Given the description of an element on the screen output the (x, y) to click on. 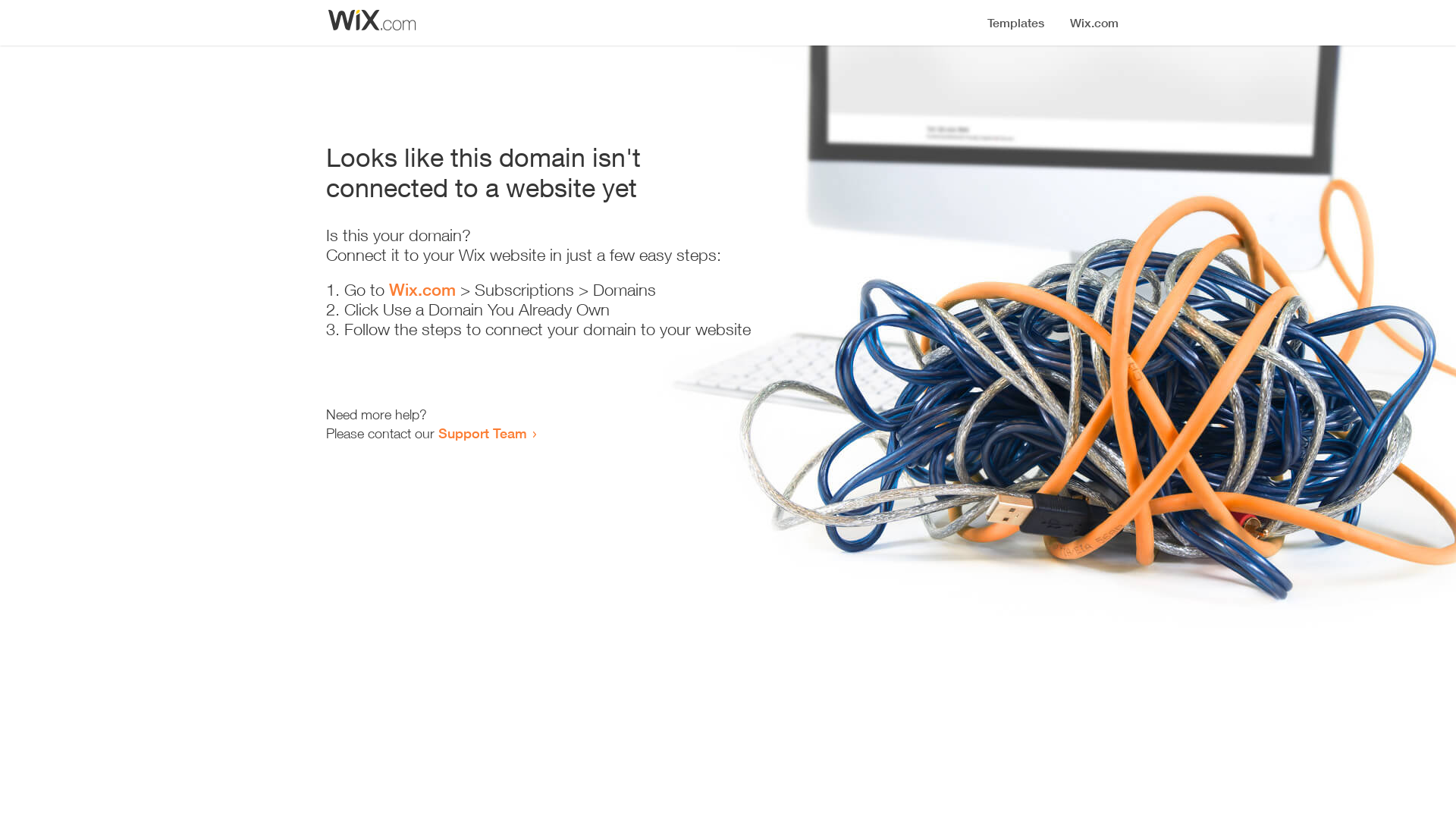
Wix.com Element type: text (422, 289)
Support Team Element type: text (482, 432)
